Given the description of an element on the screen output the (x, y) to click on. 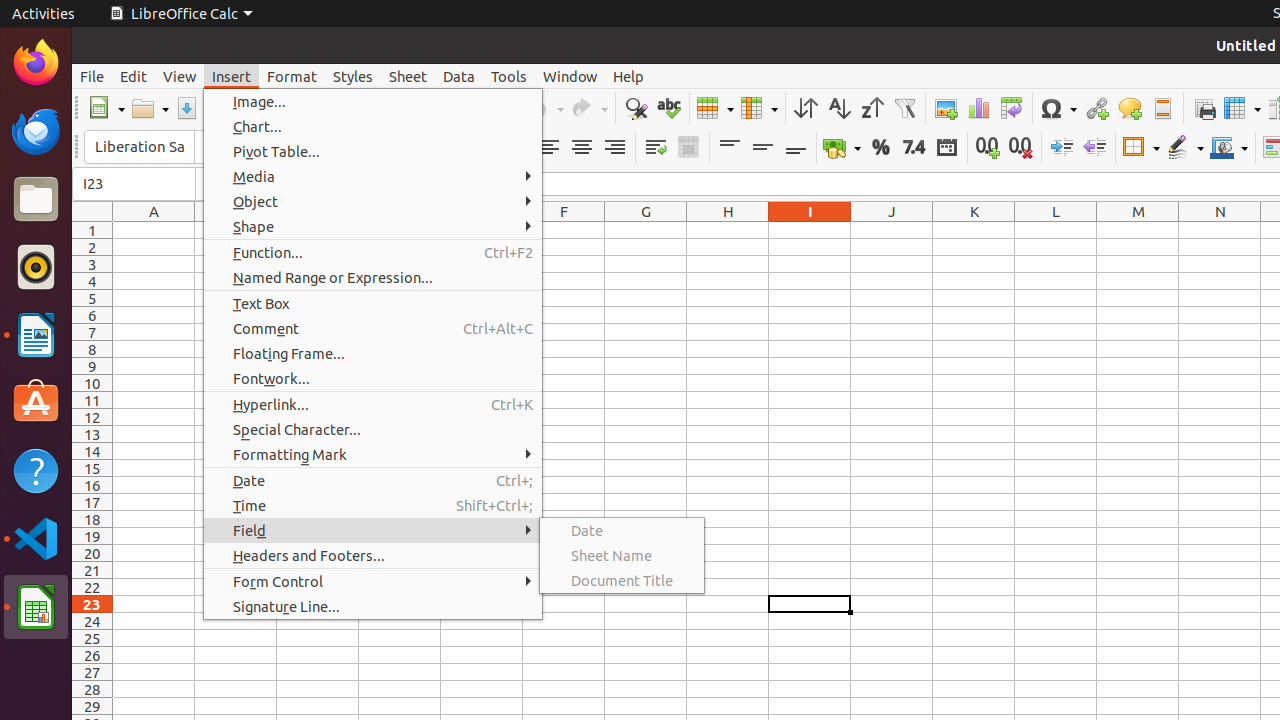
Apply Style Element type: text (73, 129)
Redo Element type: push-button (589, 108)
Hyperlink Element type: toggle-button (1096, 108)
Media Element type: menu (373, 176)
